Given the description of an element on the screen output the (x, y) to click on. 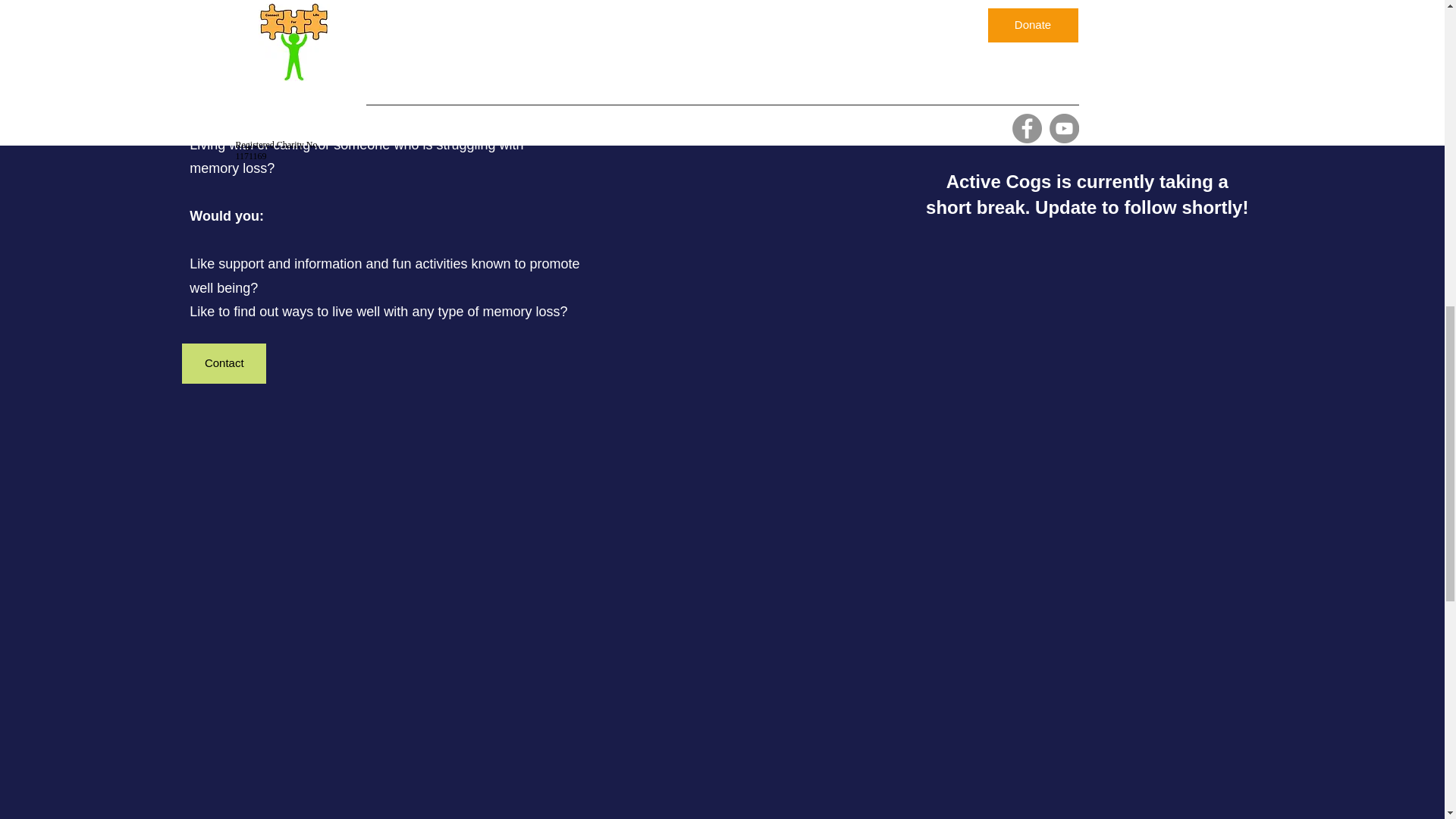
Contact (224, 363)
